Given the description of an element on the screen output the (x, y) to click on. 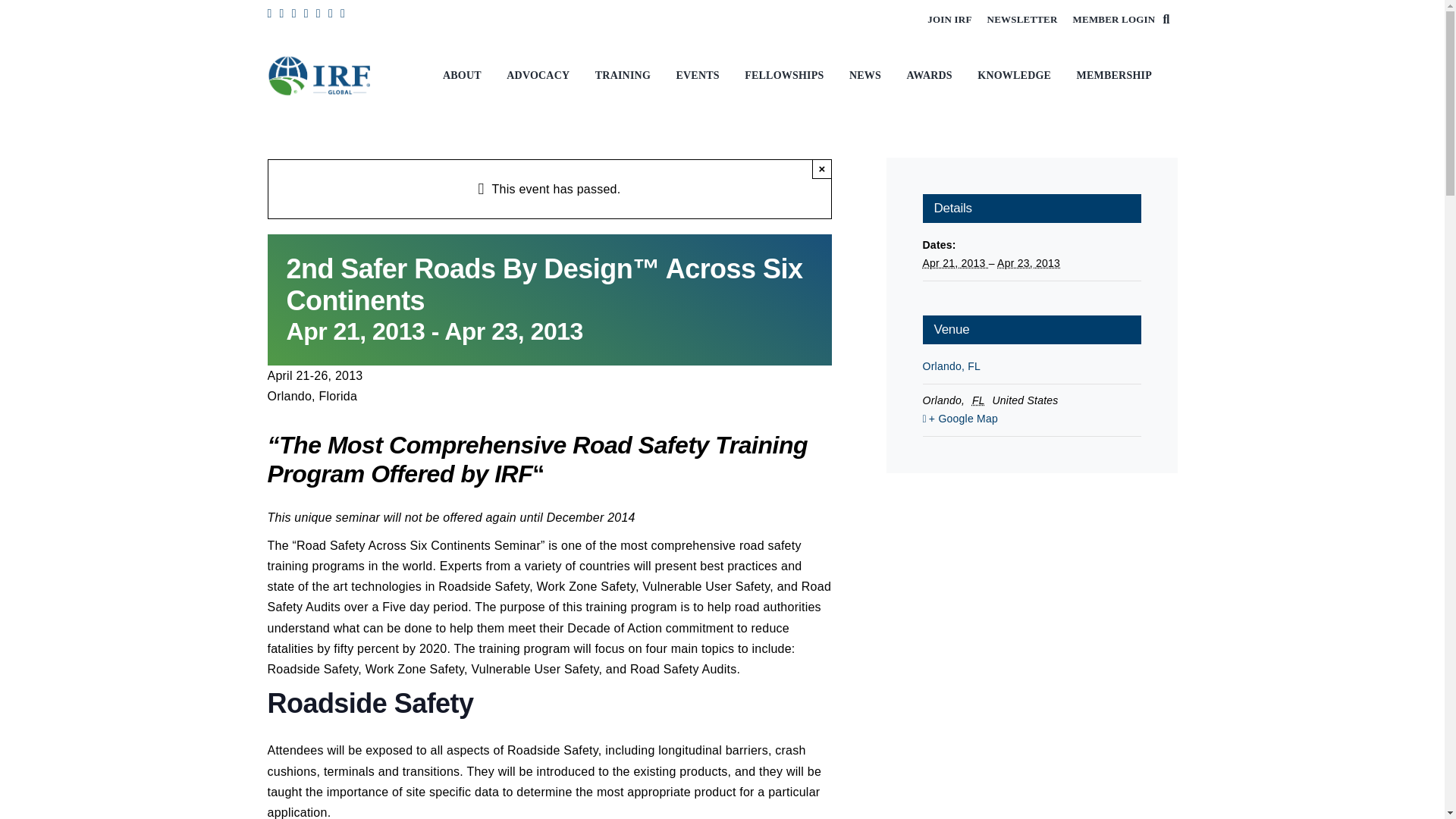
Click to view a Google Map (1030, 419)
JOIN IRF (949, 19)
TRAINING (626, 75)
Florida (980, 399)
NEWSLETTER (1022, 19)
MEMBER LOGIN (1114, 19)
ADVOCACY (541, 75)
ABOUT (465, 75)
2013-04-23 (1028, 263)
2013-04-21 (954, 263)
